Given the description of an element on the screen output the (x, y) to click on. 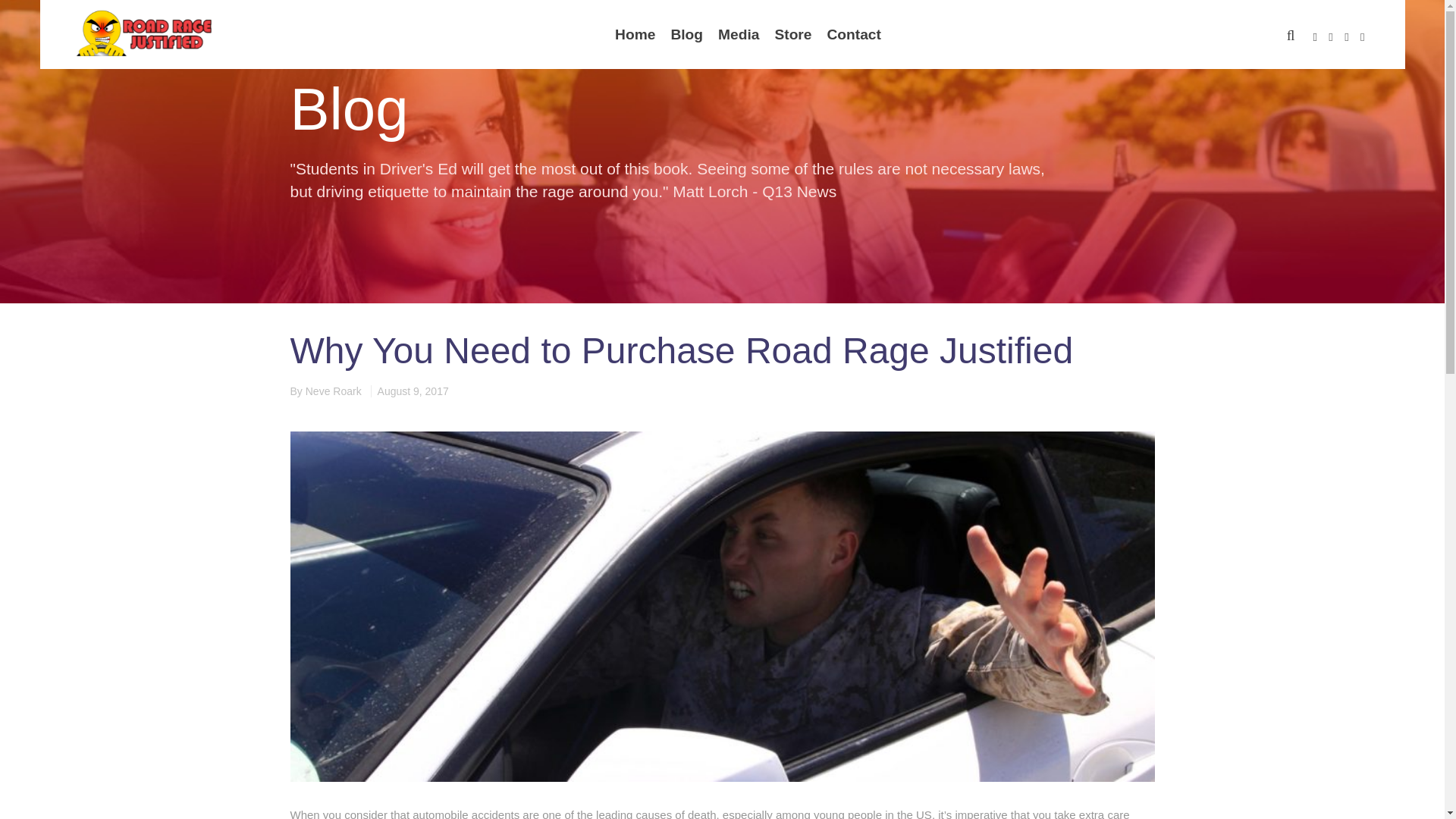
Neve Roark (333, 390)
Contact (853, 34)
Road Rage Justified (143, 32)
View all posts by Neve Roark (333, 390)
